Given the description of an element on the screen output the (x, y) to click on. 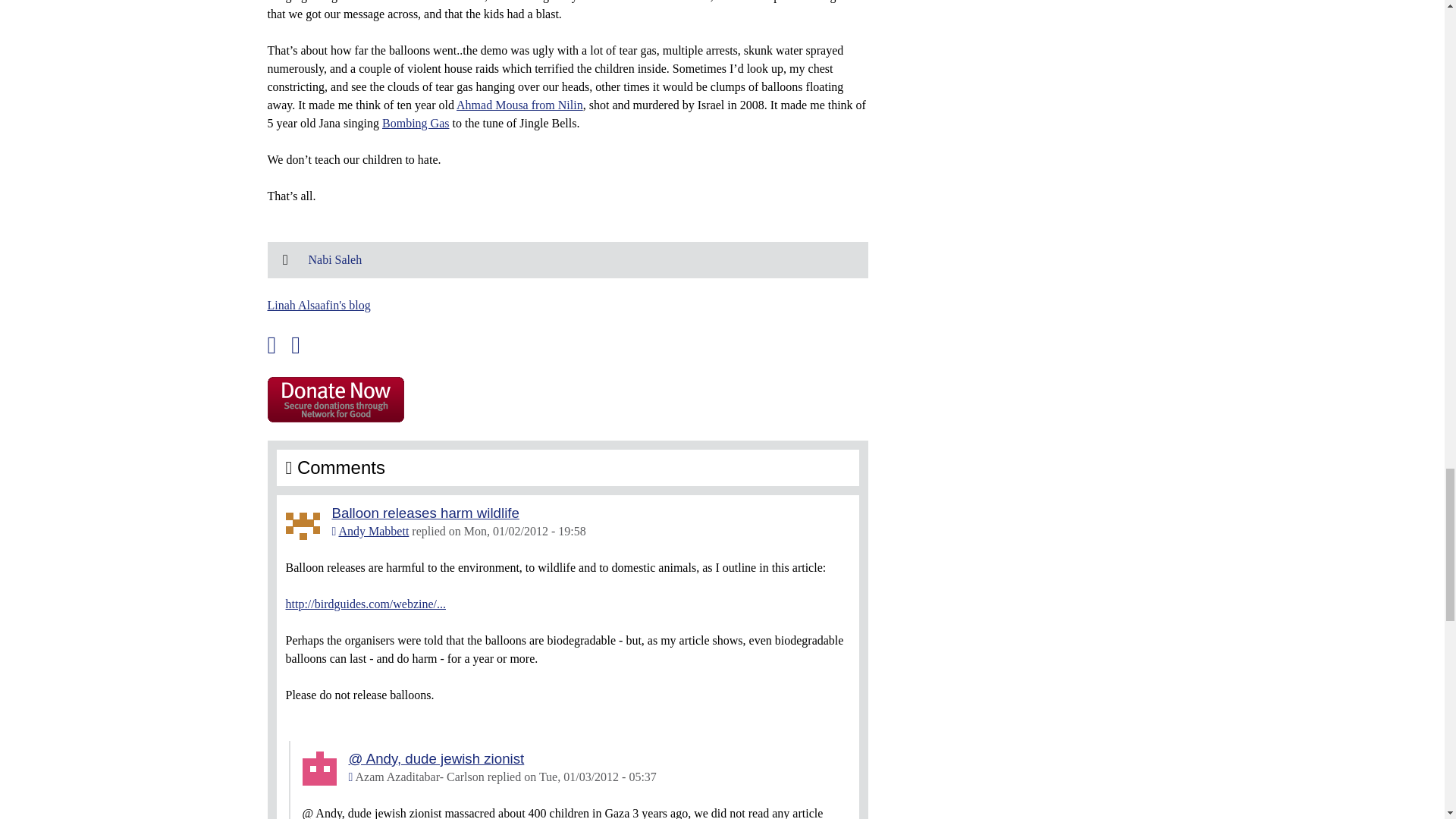
Linah Alsaafin's blog (317, 305)
Bombing Gas (414, 123)
Nabi Saleh (334, 259)
Balloon releases harm wildlife (425, 512)
Ahmad Mousa from Nilin (520, 104)
Andy Mabbett (373, 530)
Read Linah Alsaafin's latest blog entries. (317, 305)
